Given the description of an element on the screen output the (x, y) to click on. 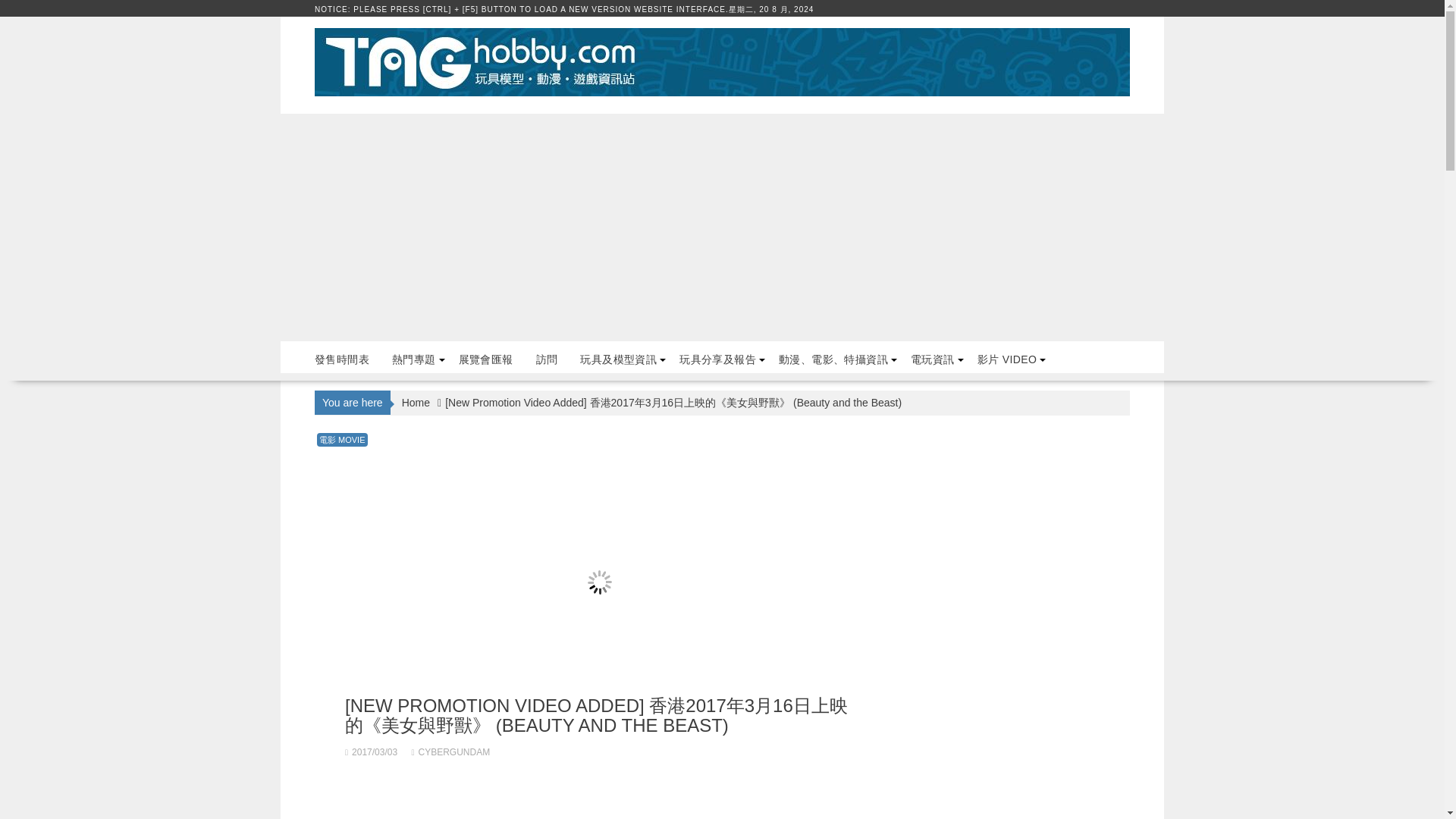
HIT TOPIC (413, 359)
RELEASE SCHEDULE (341, 359)
